Given the description of an element on the screen output the (x, y) to click on. 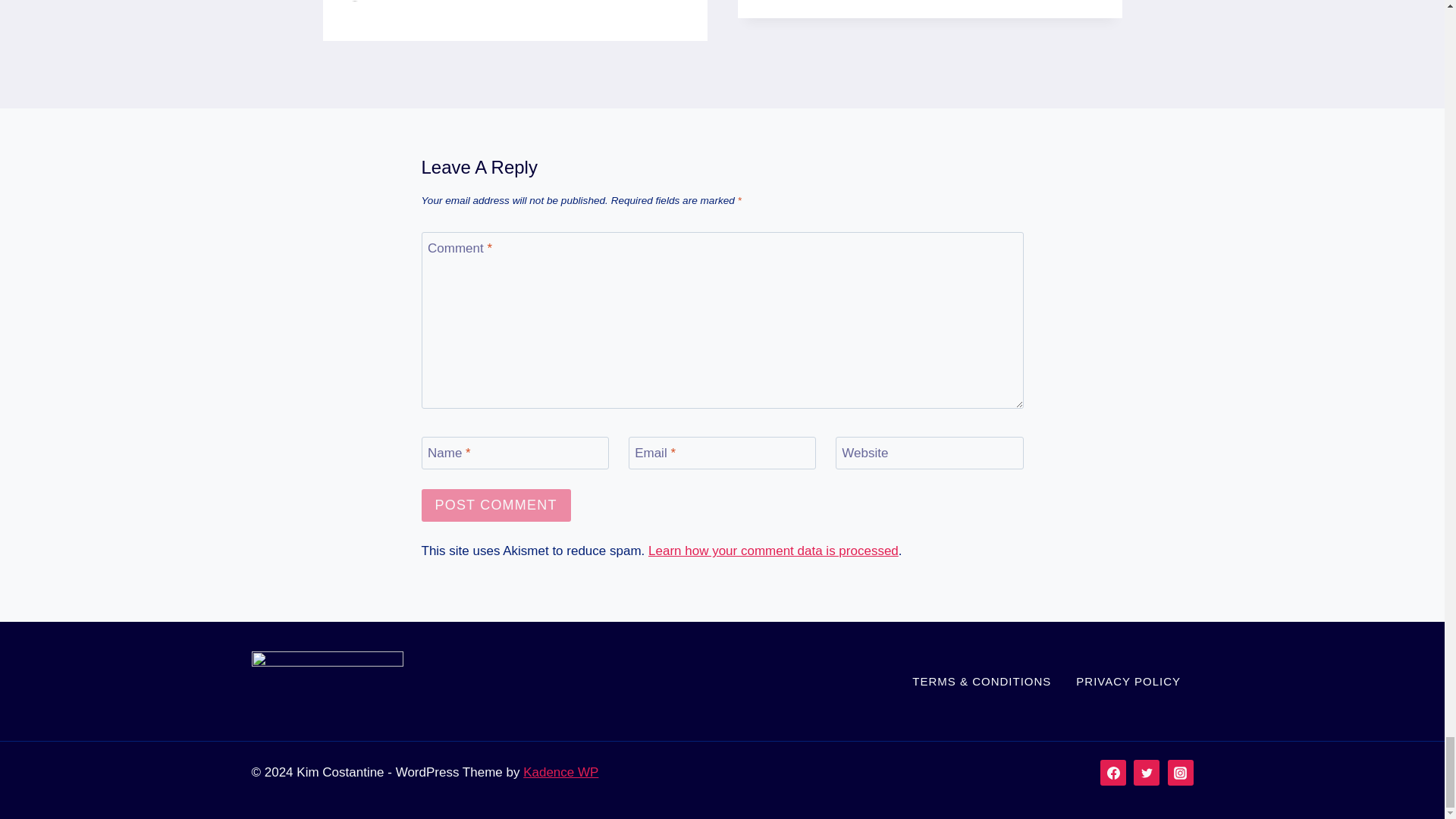
Post Comment (496, 504)
